Given the description of an element on the screen output the (x, y) to click on. 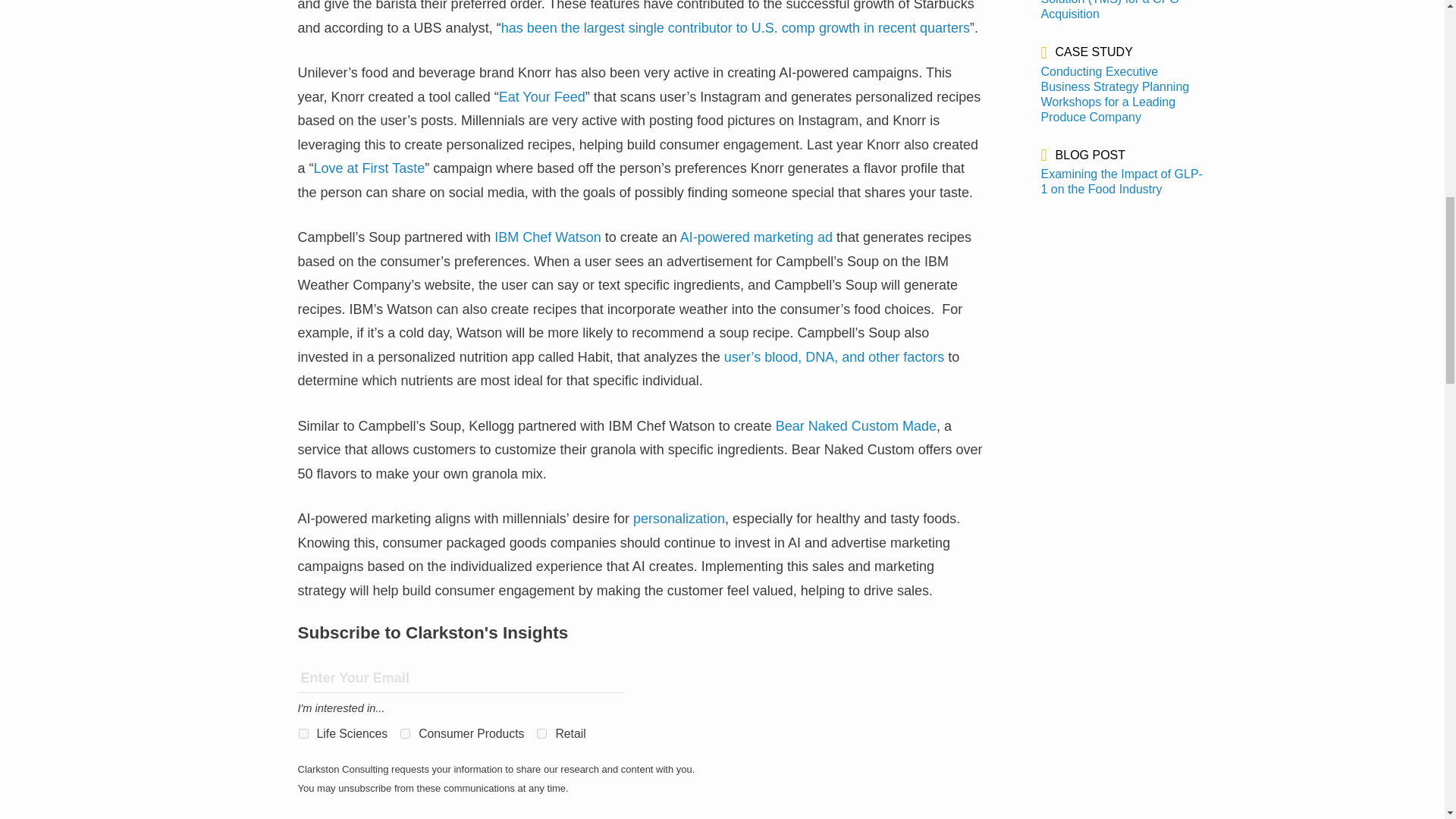
Life Sciences (303, 733)
Retail Industry (542, 733)
Consumer Products and Retail (405, 733)
